Given the description of an element on the screen output the (x, y) to click on. 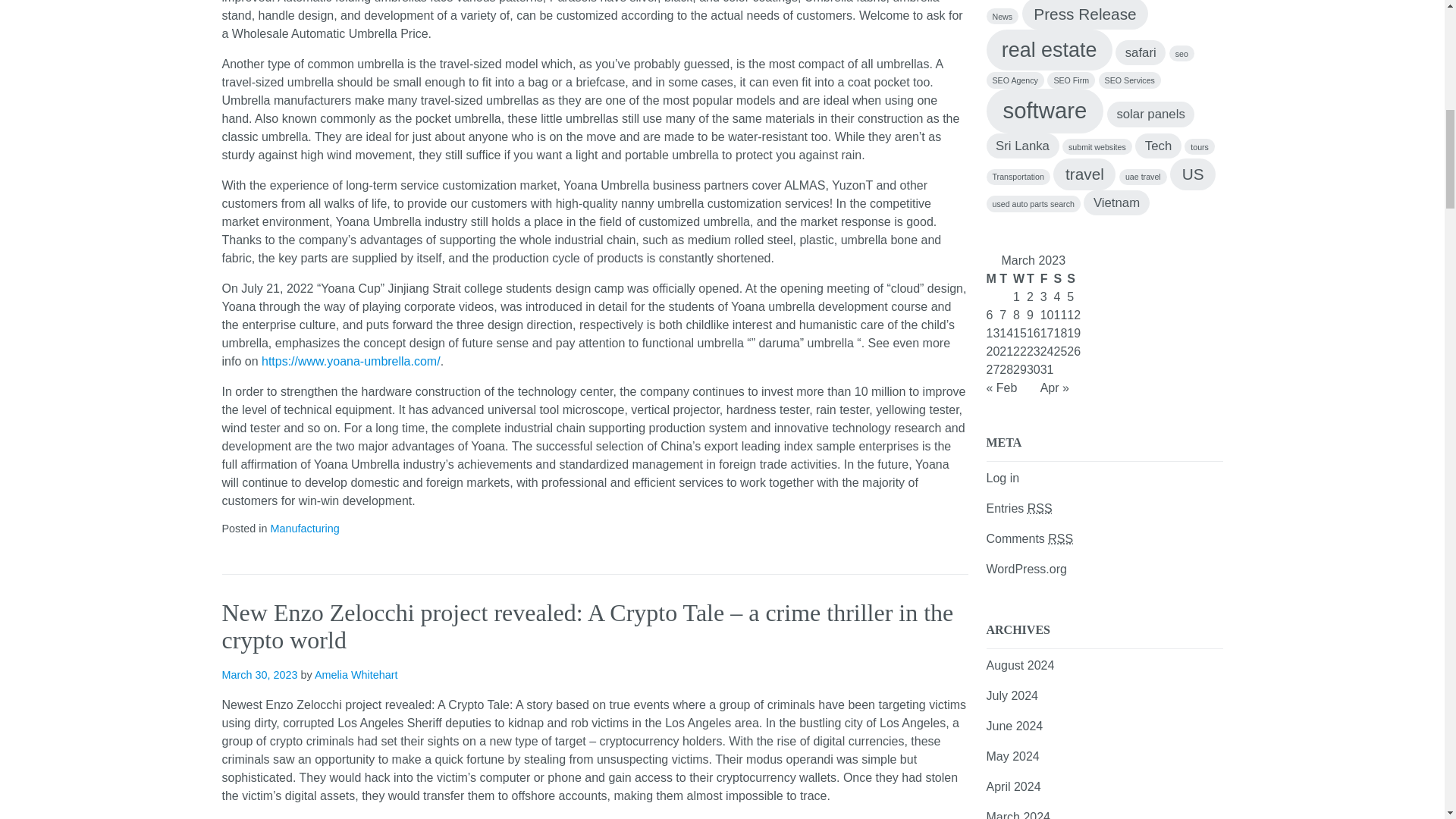
Really Simple Syndication (1060, 538)
Really Simple Syndication (1039, 508)
March 30, 2023 (259, 674)
Amelia Whitehart (355, 674)
Manufacturing (304, 528)
